Given the description of an element on the screen output the (x, y) to click on. 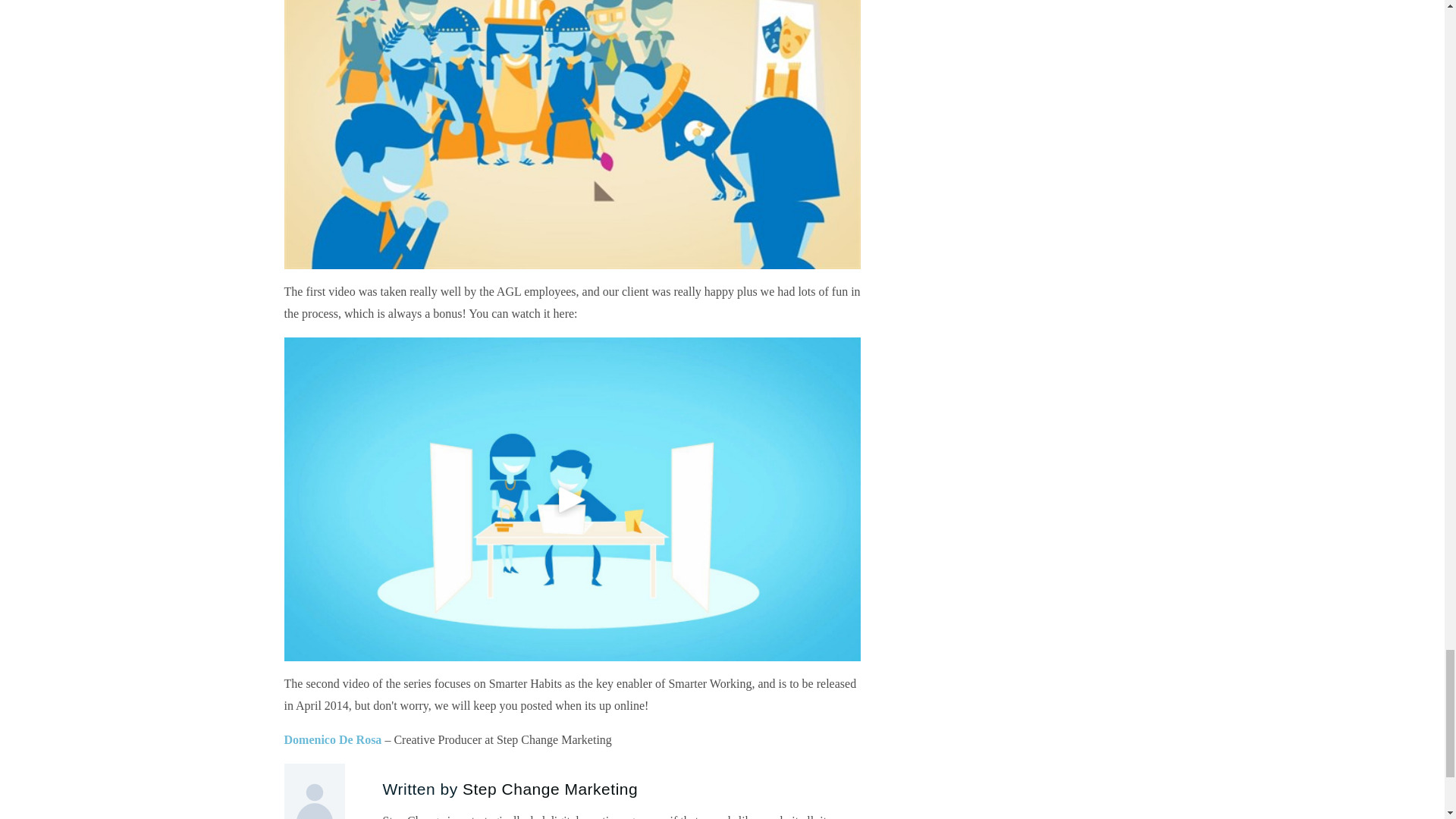
Step Change Marketing (550, 788)
Domenico De Rosa (332, 739)
